Given the description of an element on the screen output the (x, y) to click on. 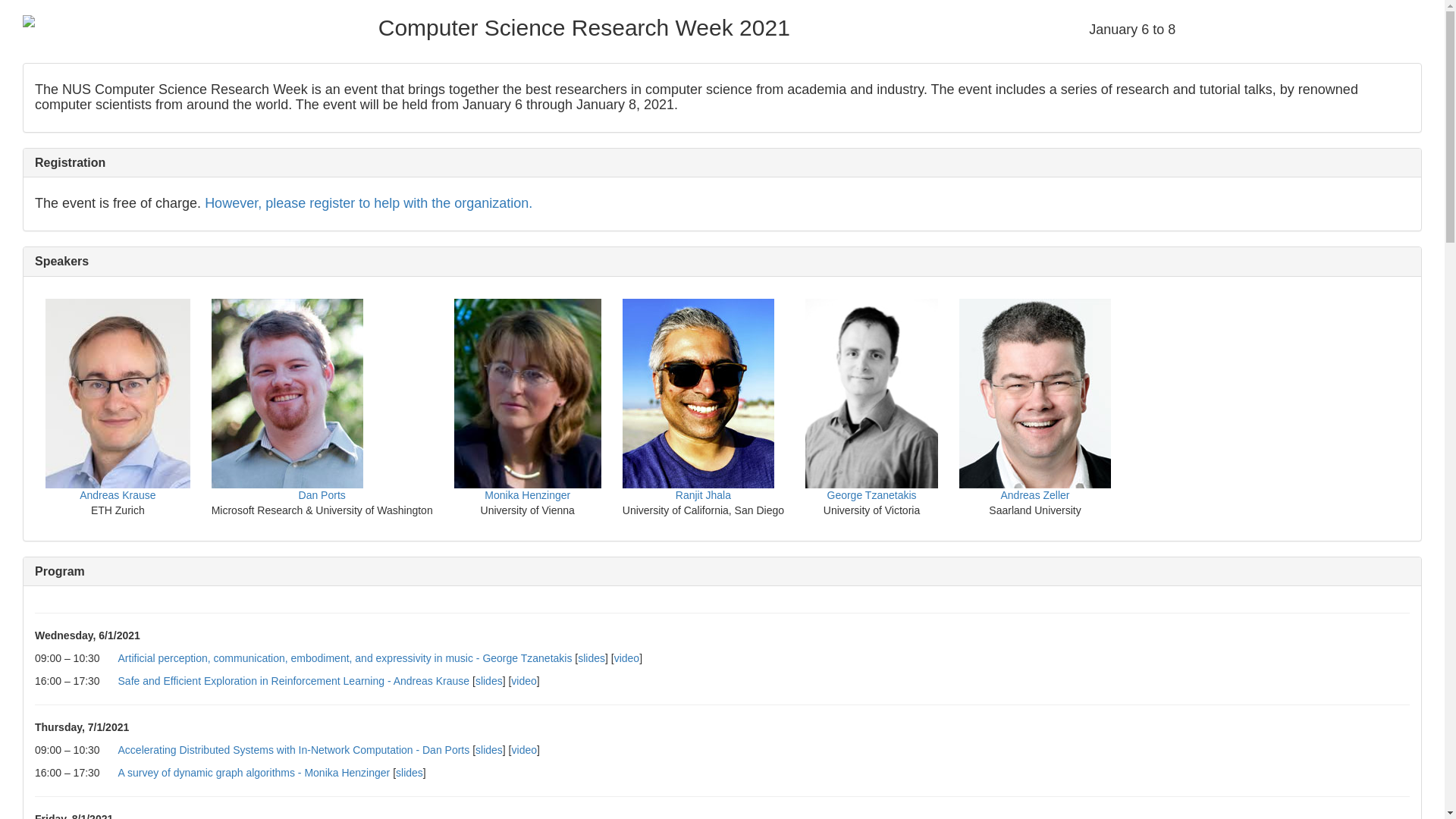
video (626, 657)
Andreas Zeller (1034, 494)
slides (489, 680)
George Tzanetakis (871, 494)
video (523, 680)
Andreas Krause (117, 494)
However, please register to help with the organization. (368, 202)
A survey of dynamic graph algorithms - Monika Henzinger (253, 772)
Monika Henzinger (527, 494)
slides (409, 772)
video (524, 749)
slides (591, 657)
slides (489, 749)
